Given the description of an element on the screen output the (x, y) to click on. 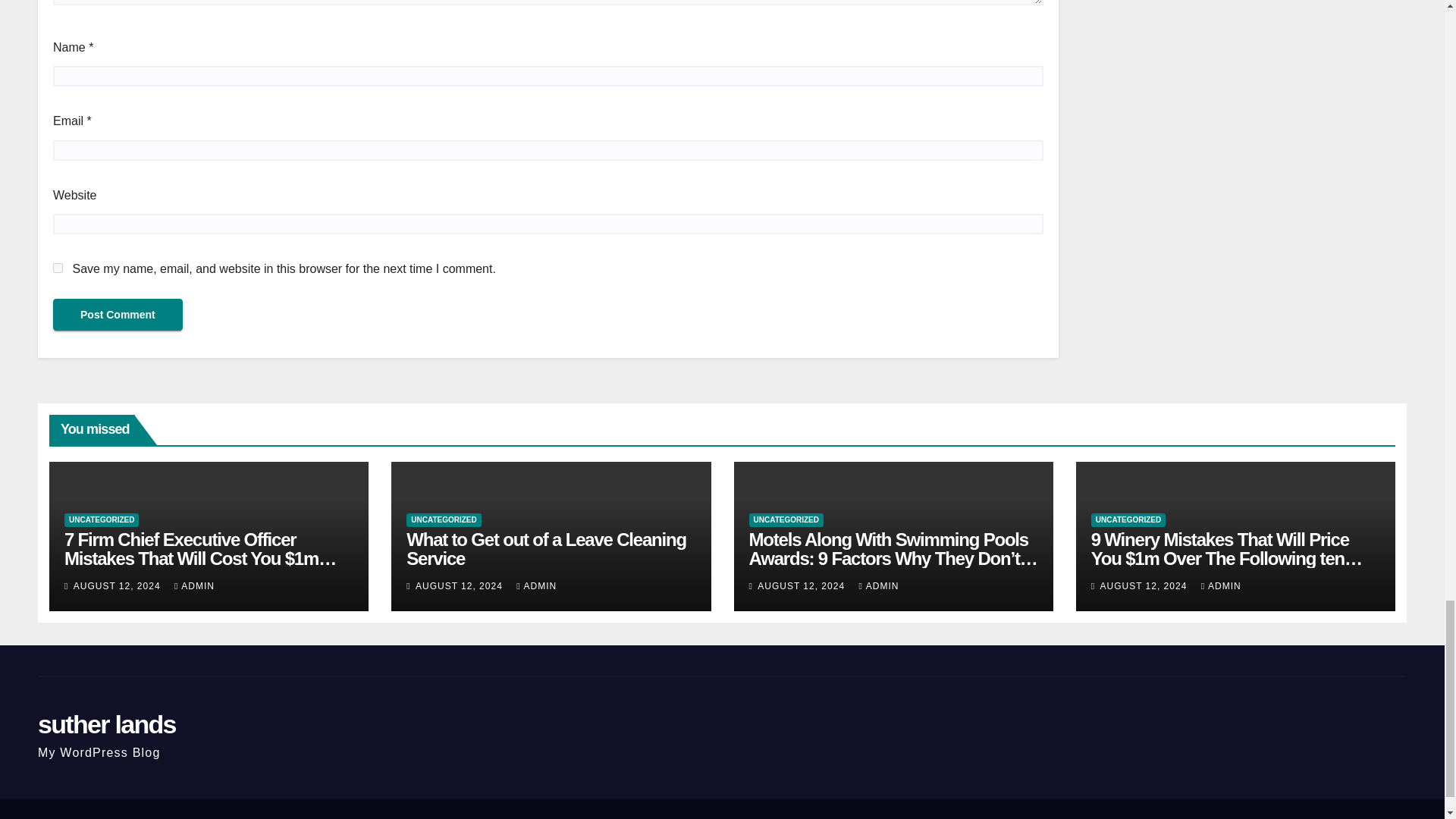
Post Comment (117, 314)
yes (57, 267)
Permalink to: What to Get out of a Leave Cleaning Service (545, 548)
Post Comment (117, 314)
